Given the description of an element on the screen output the (x, y) to click on. 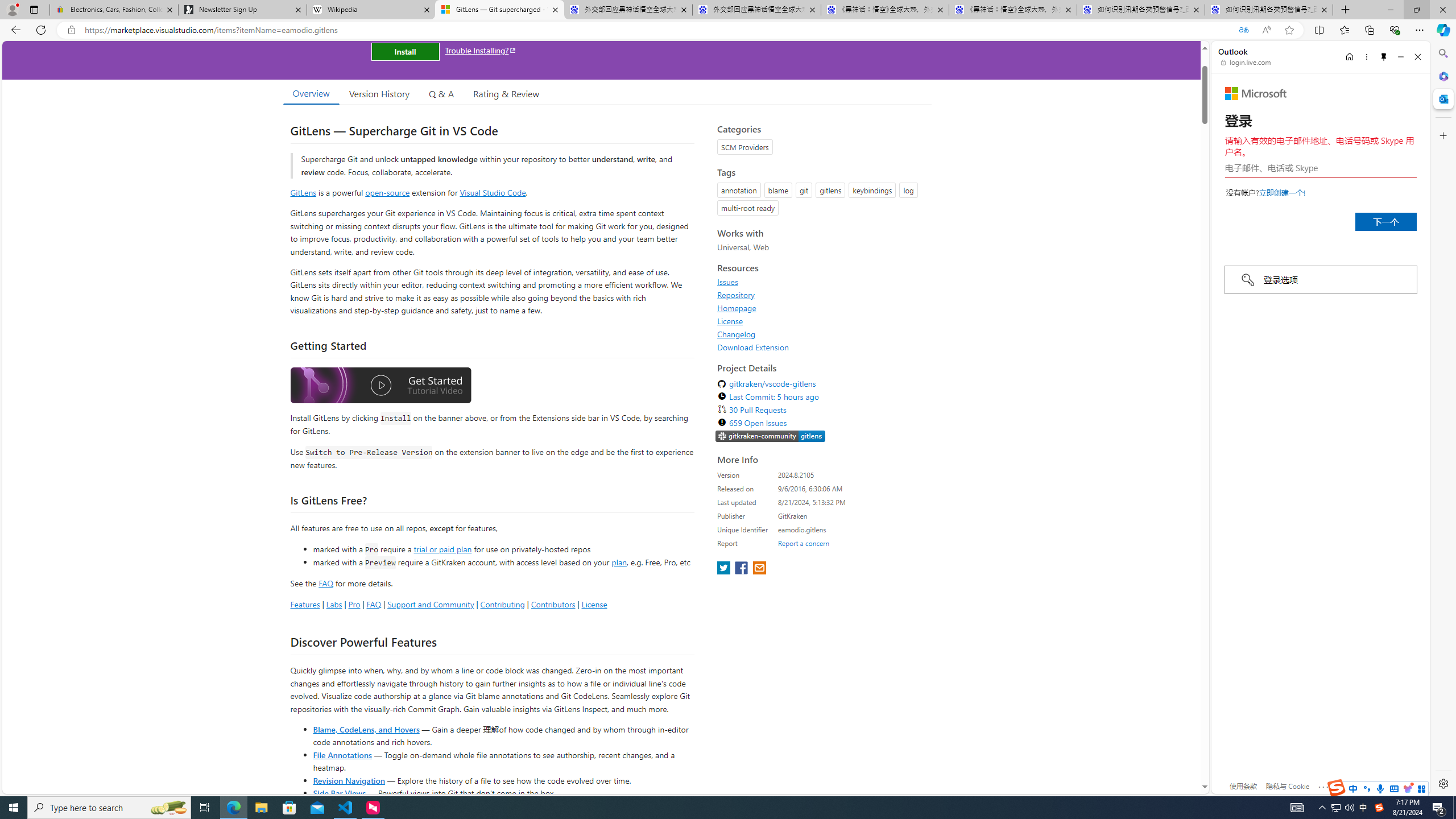
Contributors (552, 603)
Issues (820, 281)
Repository (735, 294)
Watch the GitLens Getting Started video (380, 385)
Rating & Review (505, 92)
Download Extension (820, 346)
Watch the GitLens Getting Started video (380, 387)
